Given the description of an element on the screen output the (x, y) to click on. 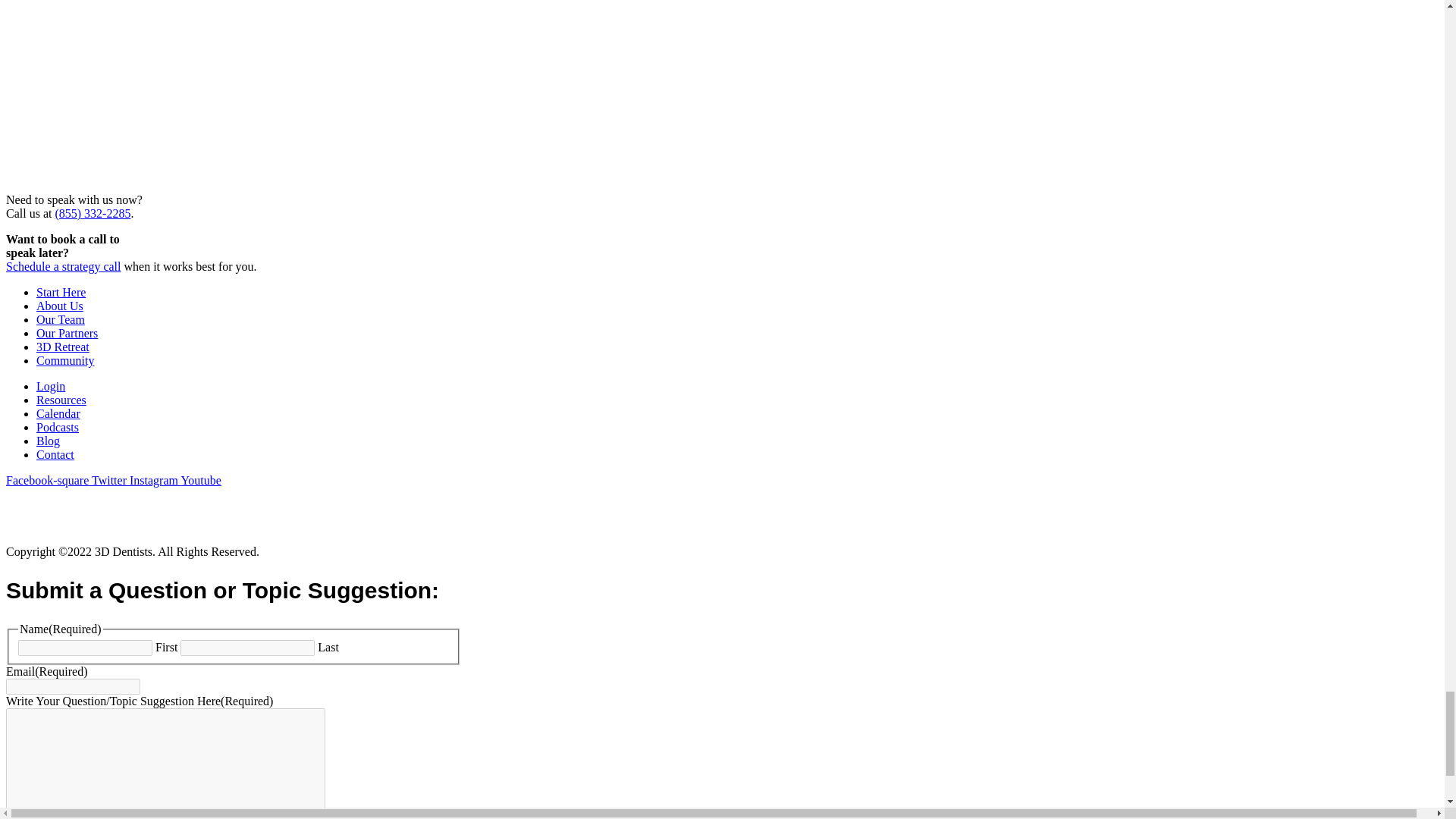
Start Here (60, 291)
About Us (59, 305)
Our Team (60, 318)
Schedule a strategy call (62, 266)
